Given the description of an element on the screen output the (x, y) to click on. 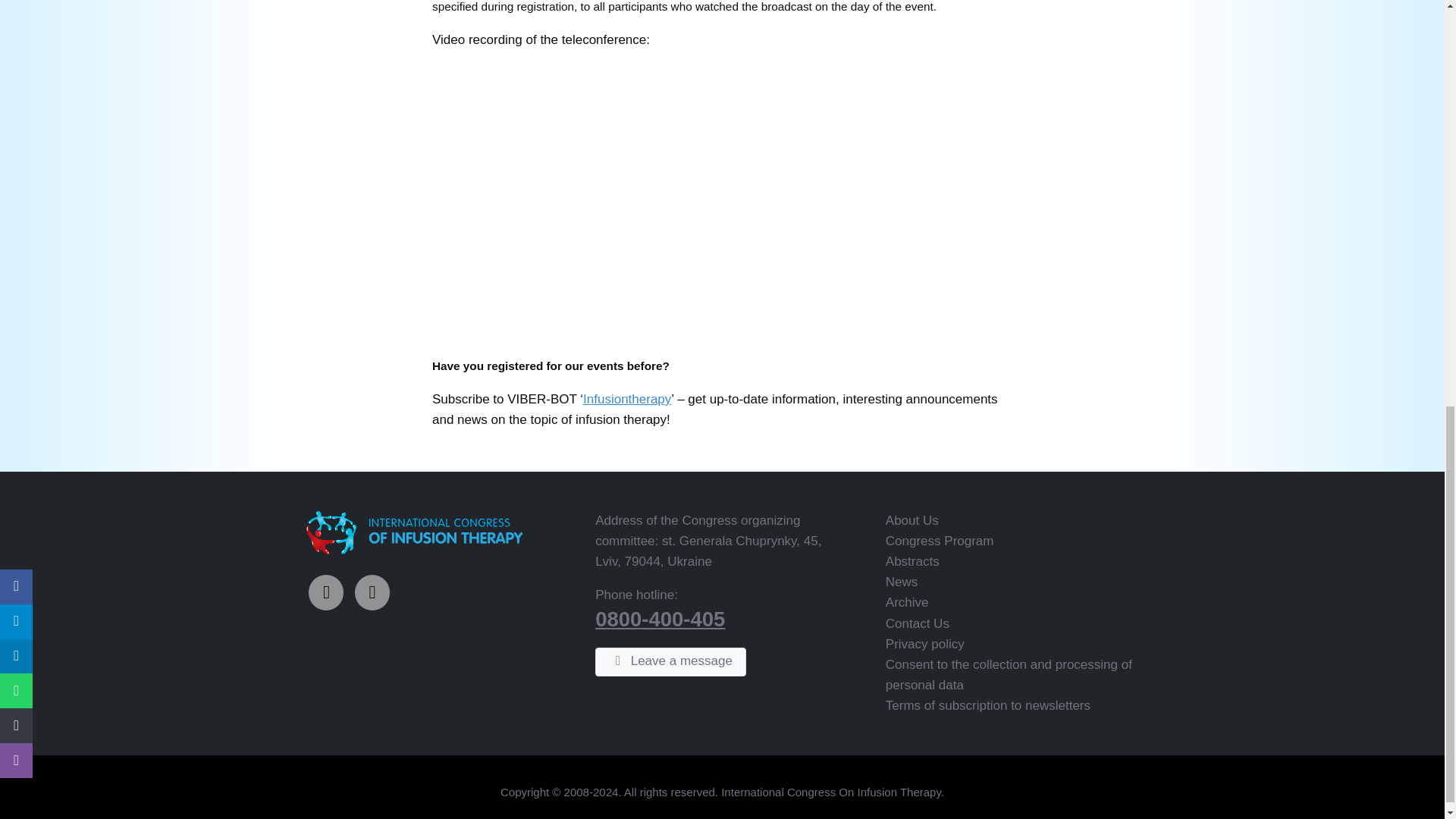
Contact Us (917, 623)
News (901, 581)
About Us (912, 520)
Privacy policy (924, 644)
Congress Program (939, 540)
YouTube (372, 591)
0800-400-405 (660, 618)
Leave a message (670, 661)
Terms of subscription to newsletters (987, 705)
Facebook (325, 591)
